Given the description of an element on the screen output the (x, y) to click on. 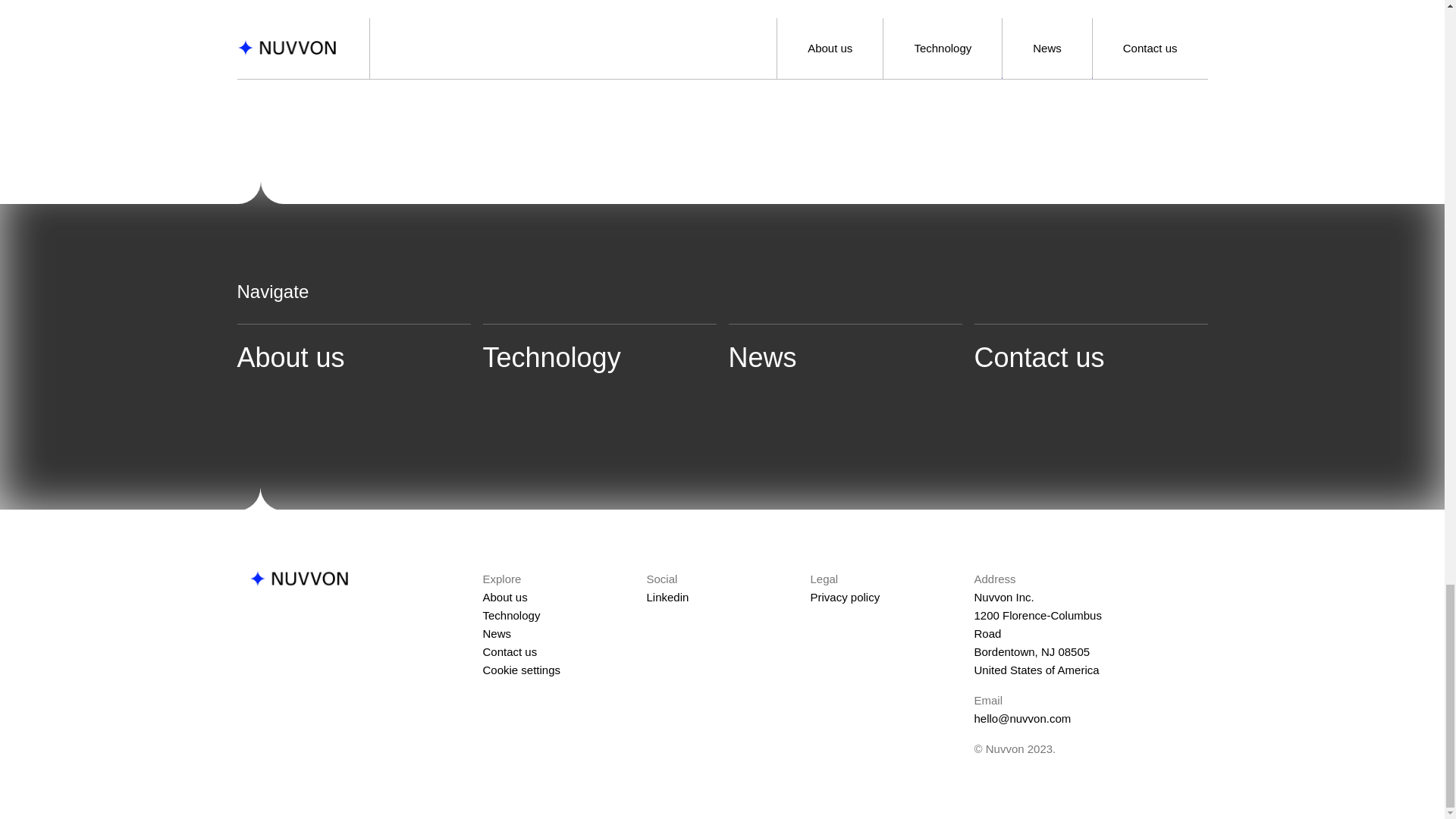
News (496, 633)
Technology (598, 349)
Contact us (509, 651)
About us (504, 596)
Technology (510, 615)
Privacy policy (844, 596)
Cookie settings (520, 669)
About us (352, 349)
News (844, 349)
Linkedin (667, 596)
Contact us (1090, 349)
